Given the description of an element on the screen output the (x, y) to click on. 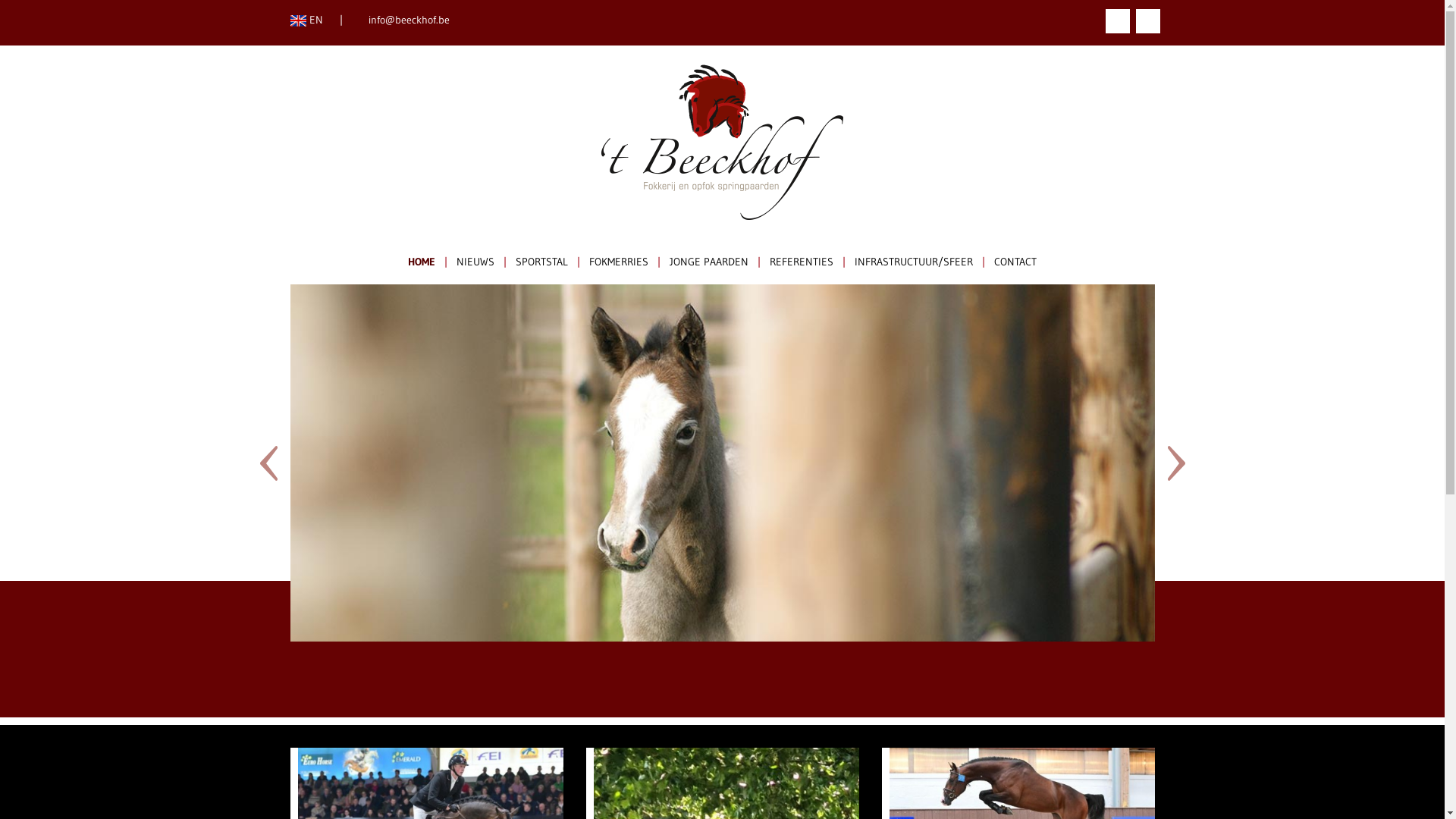
NIEUWS Element type: text (475, 261)
HOME Element type: text (421, 261)
Next Element type: text (1120, 462)
CONTACT Element type: text (1015, 261)
FOKMERRIES Element type: text (618, 261)
Previous Element type: text (324, 462)
SPORTSTAL Element type: text (541, 261)
info@beeckhof.be Element type: text (408, 19)
JONGE PAARDEN Element type: text (708, 261)
EN Element type: text (305, 19)
REFERENTIES Element type: text (801, 261)
INFRASTRUCTUUR/SFEER Element type: text (913, 261)
